Given the description of an element on the screen output the (x, y) to click on. 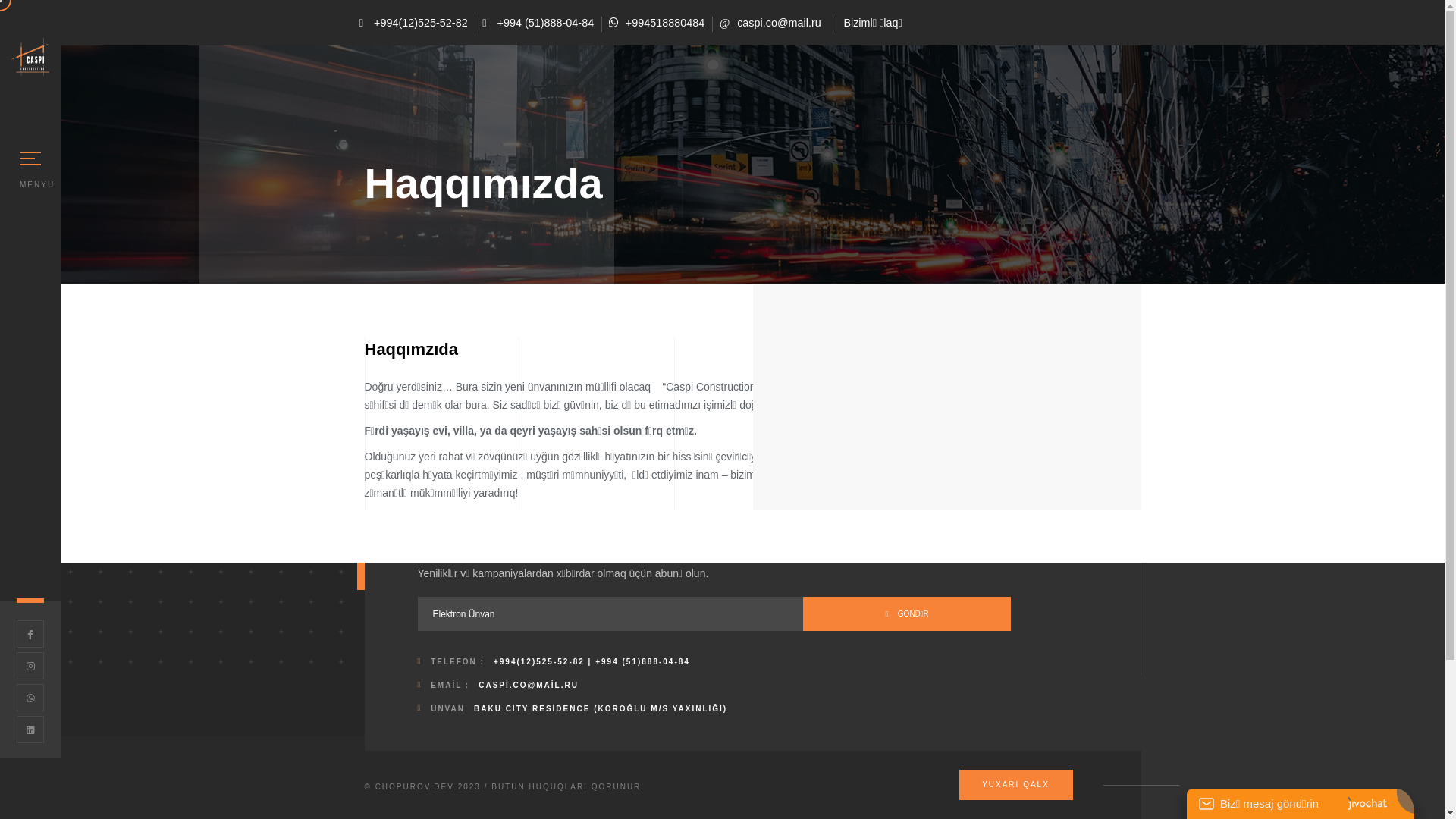
CASPI.CO@MAIL.RU Element type: text (528, 684)
+994(12)525-52-82 | +994 (51)888-04-84 Element type: text (591, 661)
+994(12)525-52-82 Element type: text (413, 22)
+994518880484 Element type: text (656, 22)
caspi.co@mail.ru Element type: text (770, 22)
+994 (51)888-04-84 Element type: text (537, 22)
